Given the description of an element on the screen output the (x, y) to click on. 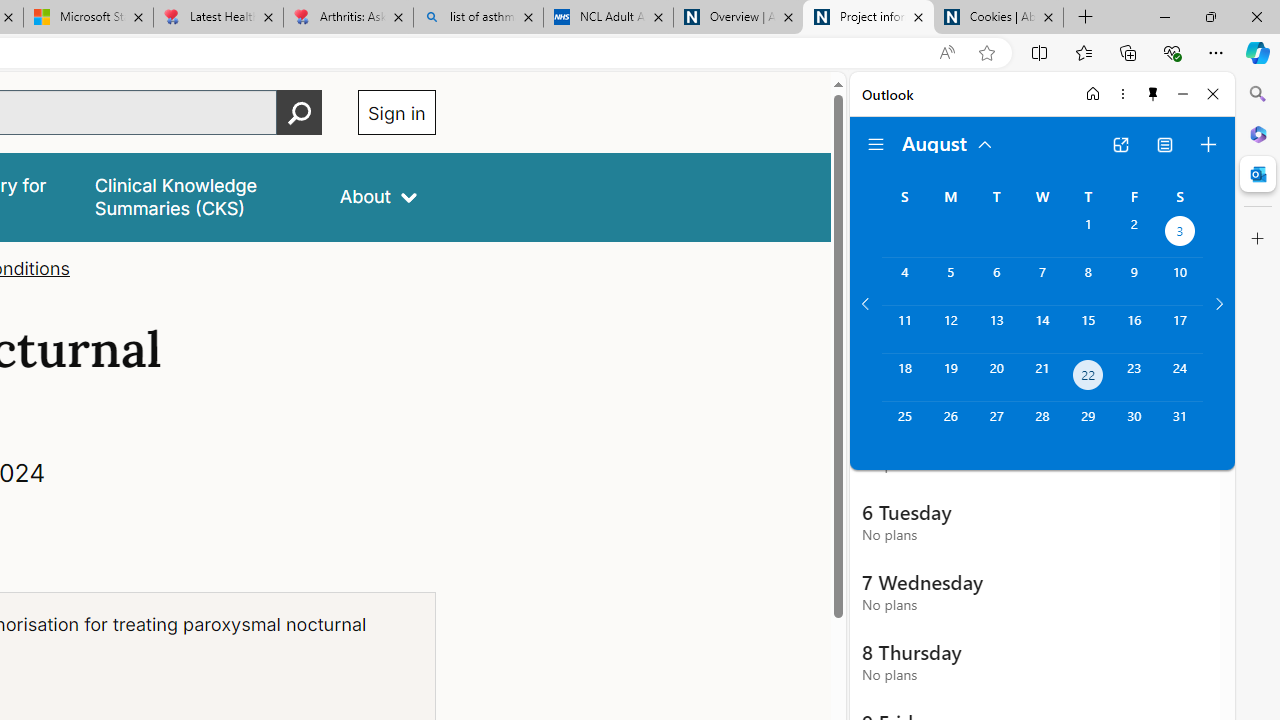
Tuesday, August 20, 2024.  (996, 377)
